Given the description of an element on the screen output the (x, y) to click on. 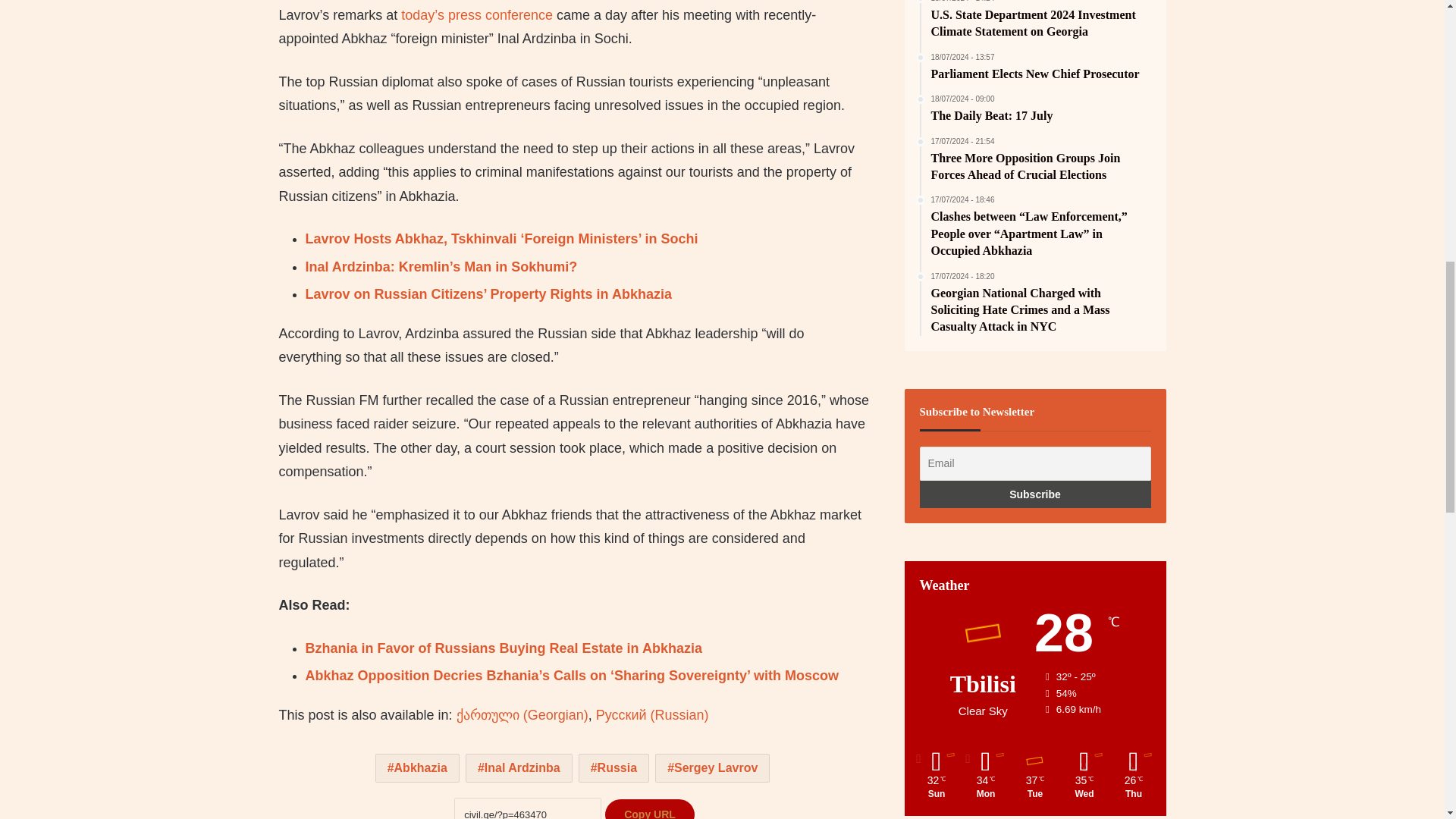
Subscribe (1035, 493)
